Given the description of an element on the screen output the (x, y) to click on. 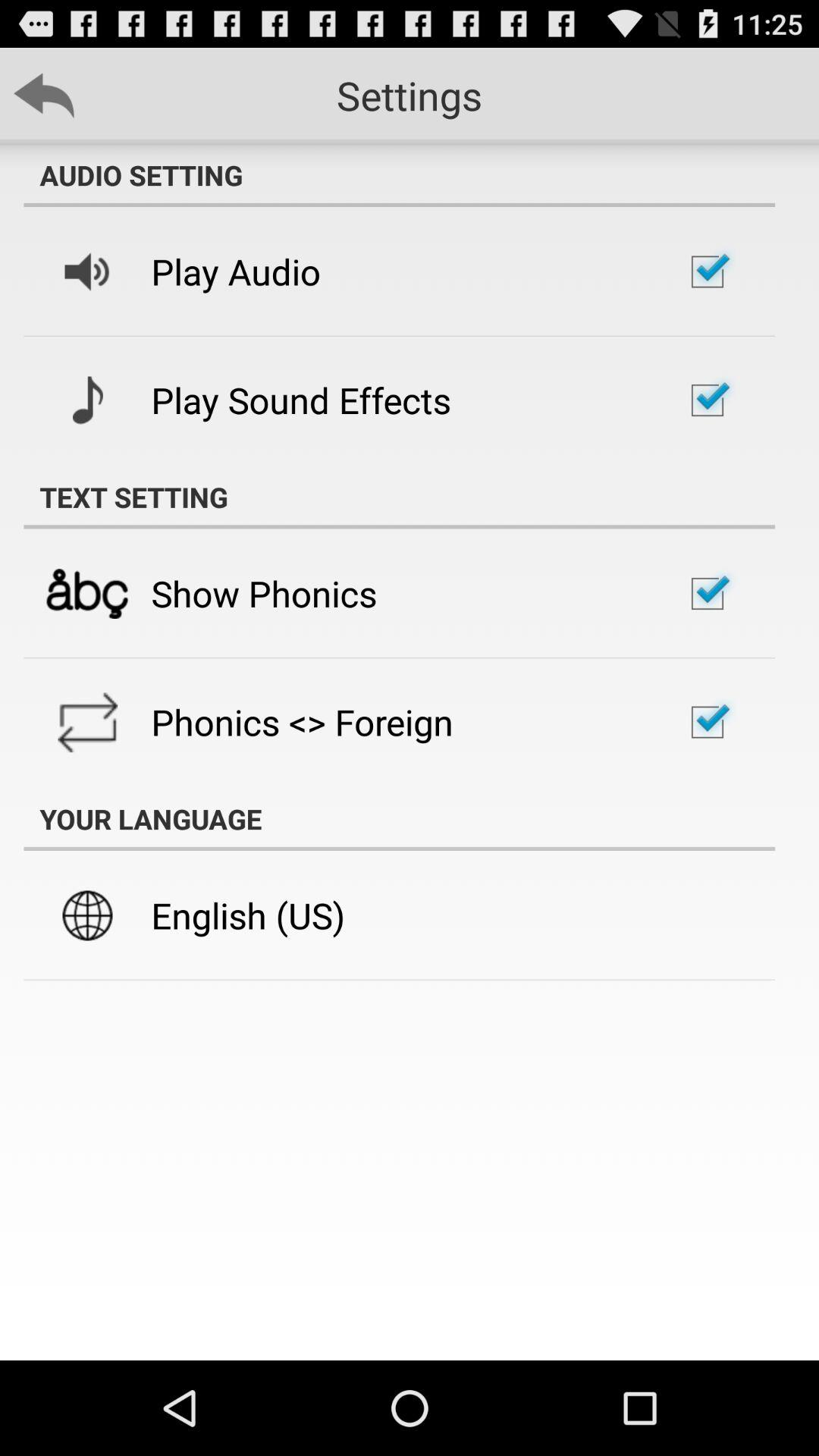
tap the icon below the show phonics icon (302, 721)
